Given the description of an element on the screen output the (x, y) to click on. 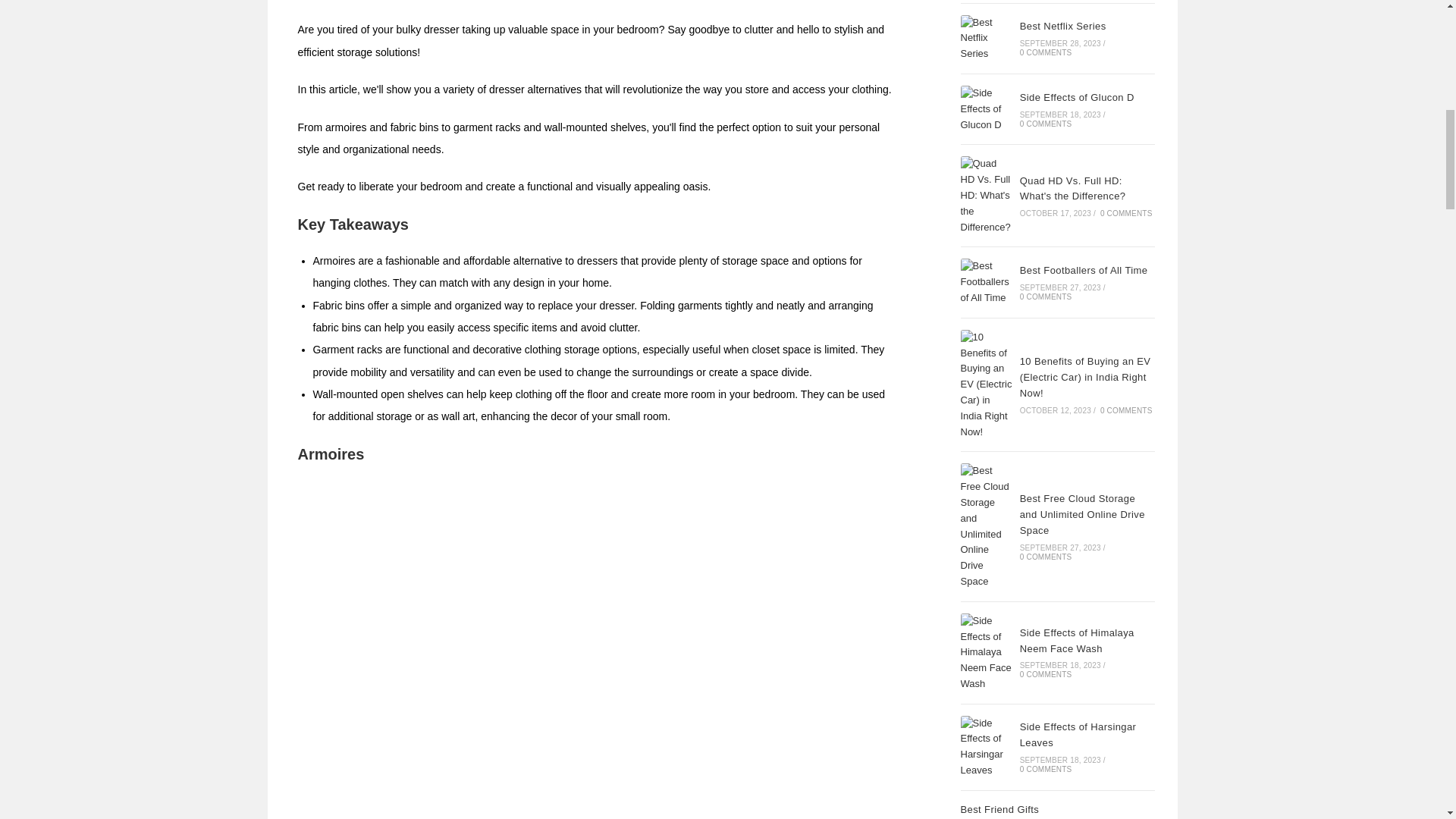
Quad HD Vs. Full HD: What's the Difference? (985, 195)
Side Effects of Harsingar Leaves (985, 746)
Best Footballers of All Time (985, 281)
Side Effects of Himalaya Neem Face Wash (985, 652)
Best Netflix Series (985, 38)
Side Effects of Glucon D (985, 108)
Best Free Cloud Storage and Unlimited Online Drive Space (985, 525)
